Given the description of an element on the screen output the (x, y) to click on. 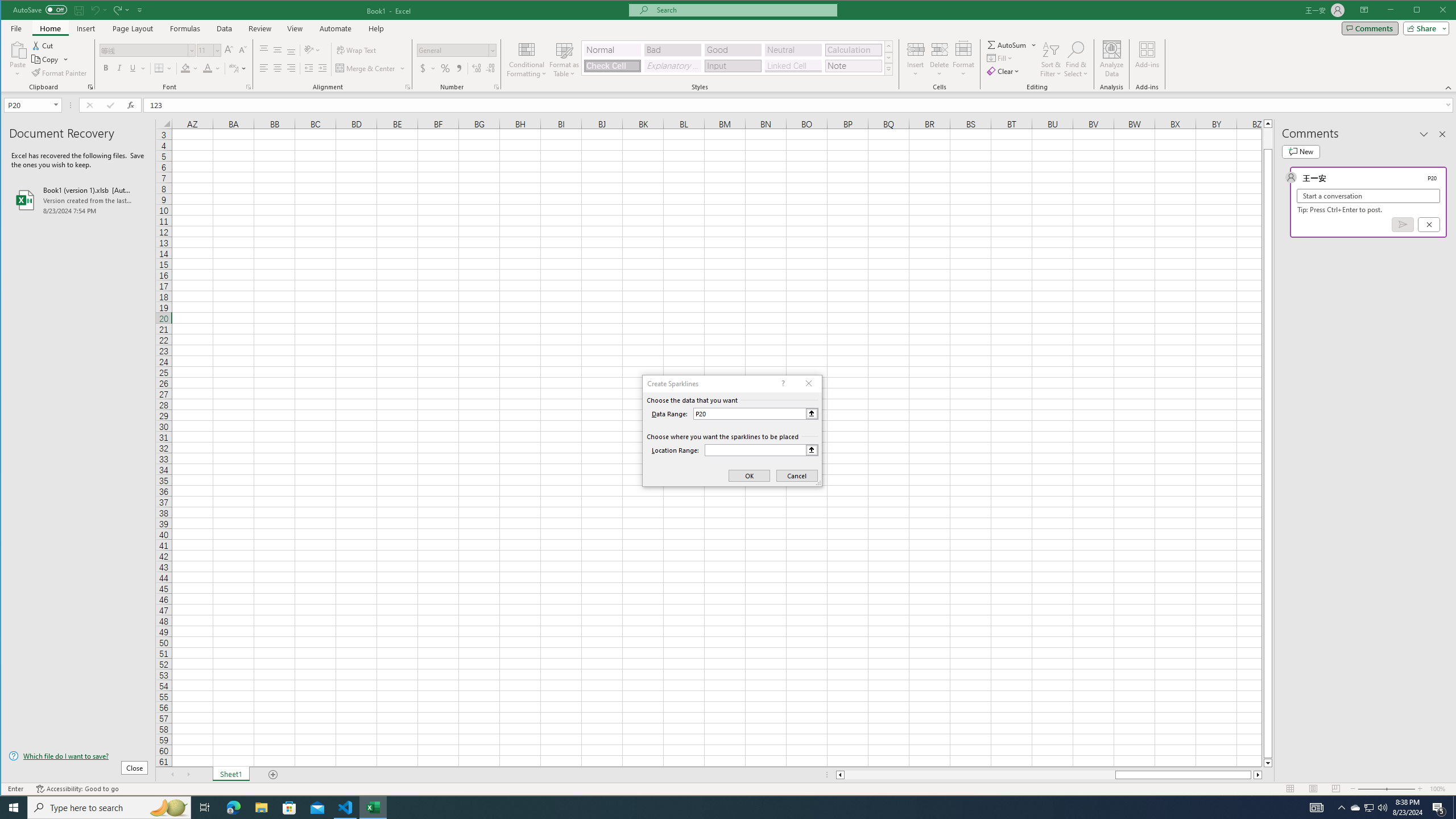
AutoSum (1012, 44)
Increase Decimal (476, 68)
Cell Styles (887, 69)
Insert Cells (915, 48)
Align Left (263, 68)
Delete (939, 59)
Page up (1267, 138)
Wrap Text (356, 49)
Bold (105, 68)
